Given the description of an element on the screen output the (x, y) to click on. 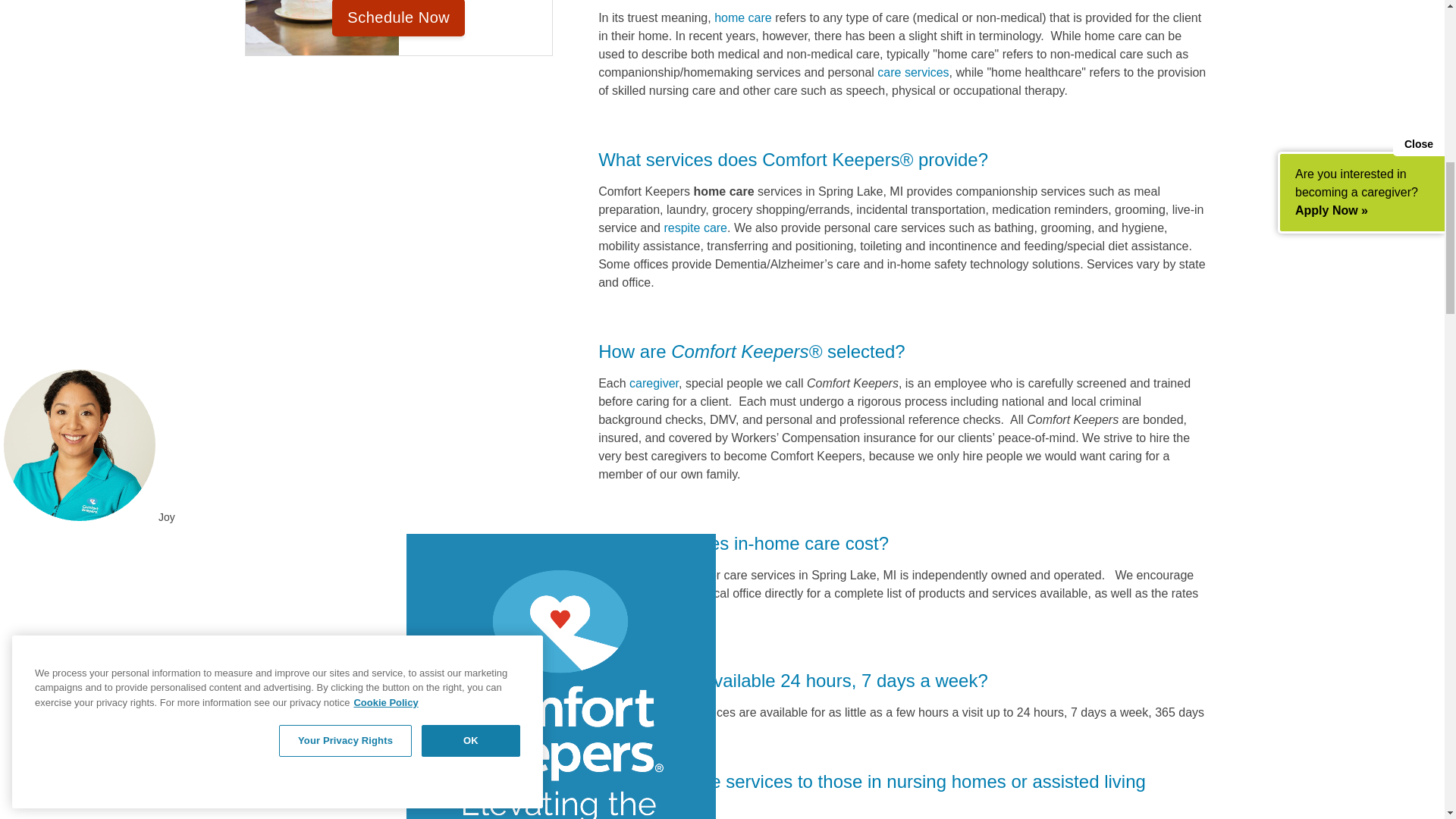
home care (742, 17)
Schedule Now (397, 18)
